Given the description of an element on the screen output the (x, y) to click on. 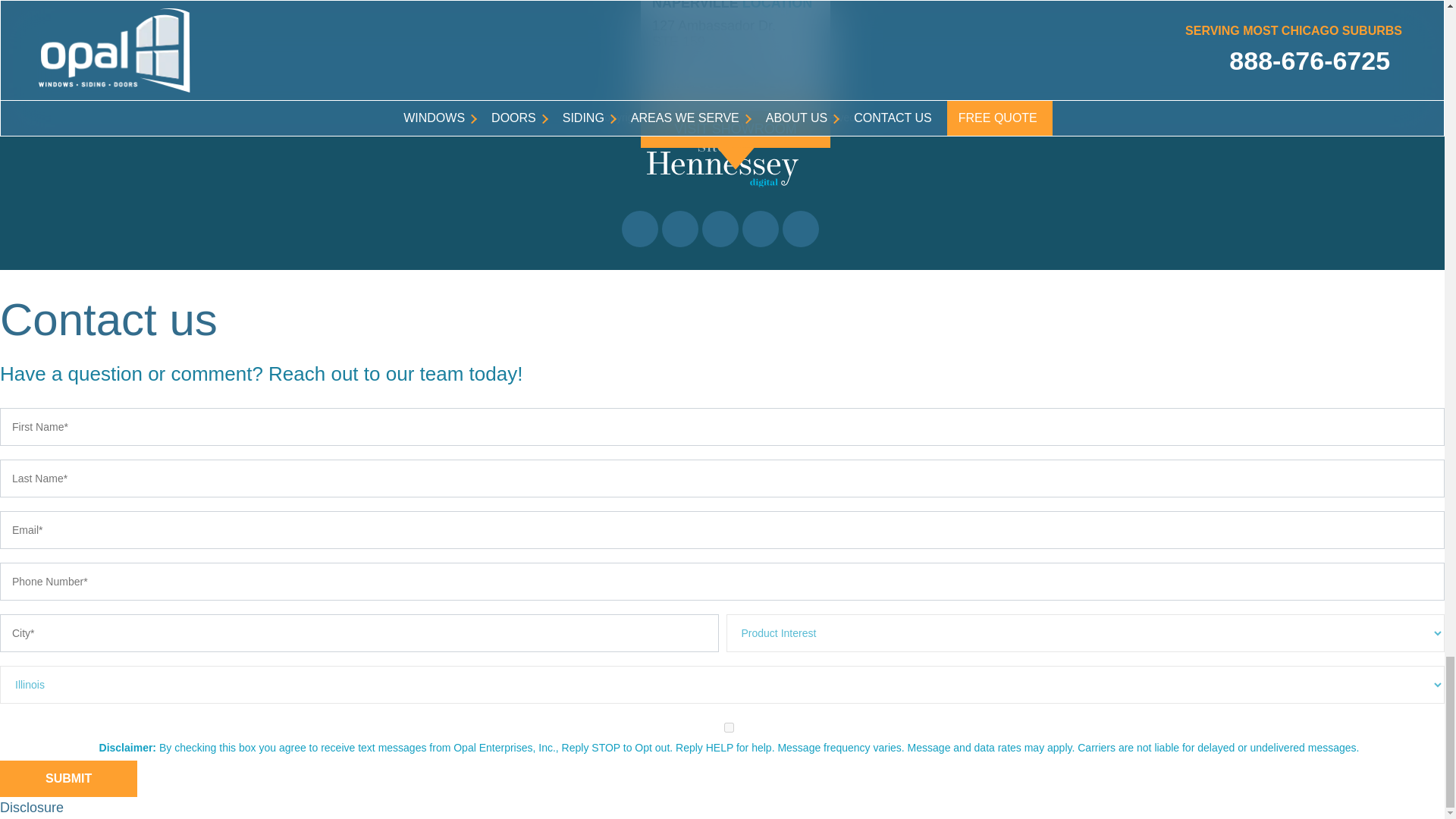
1 (728, 727)
Submit (68, 778)
